Given the description of an element on the screen output the (x, y) to click on. 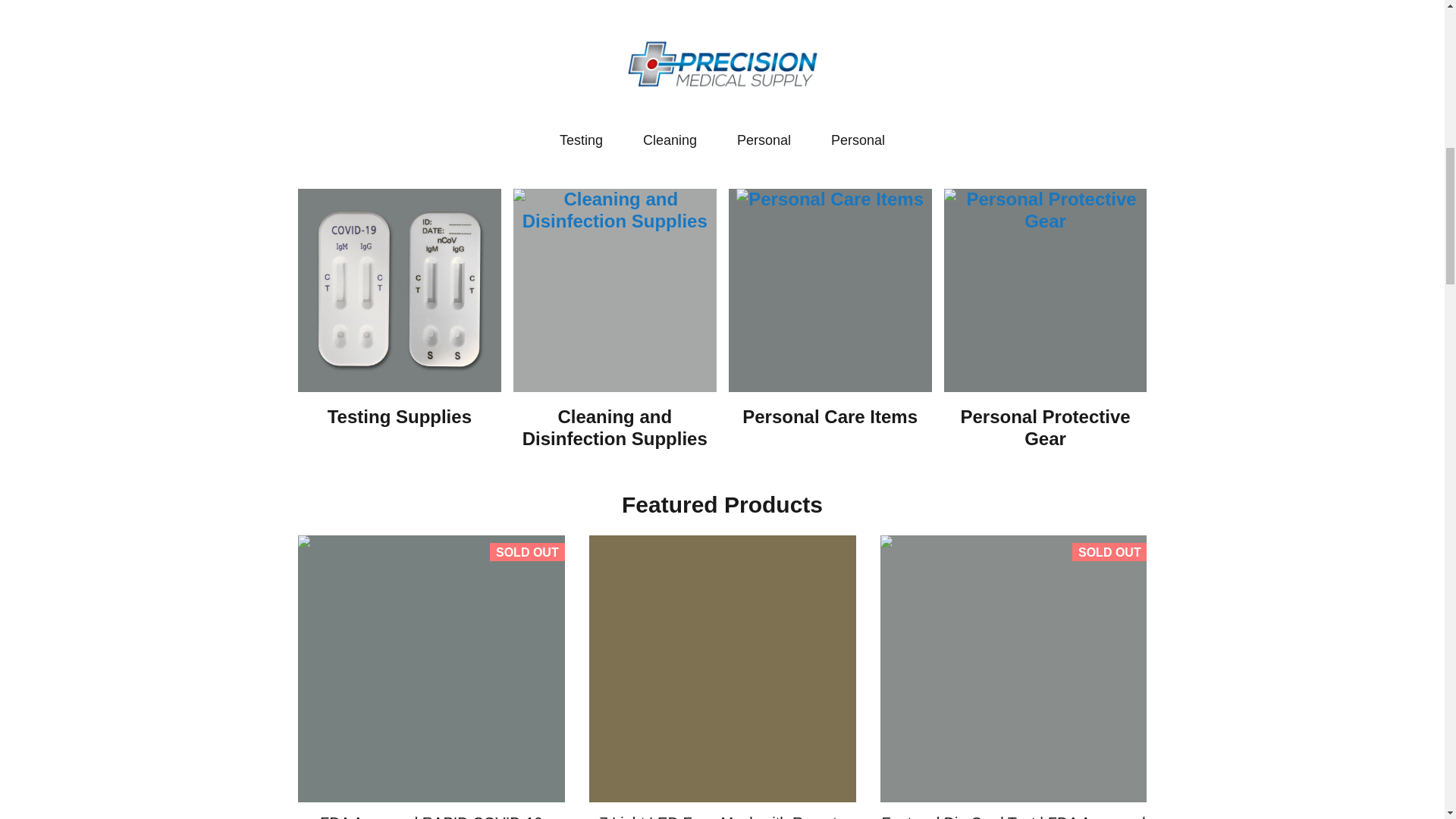
7 Light LED Face Mask with Remote Control (722, 816)
Cleaning and Disinfection Supplies (614, 210)
Testing (399, 290)
Personal (763, 139)
Personal (1045, 290)
Personal Care Items (829, 199)
Personal Protective Gear (1045, 210)
Cleaning (670, 139)
FDA Approved RAPID COVID-19 Antibody Test Kit (431, 816)
SOLD OUT (431, 668)
